Given the description of an element on the screen output the (x, y) to click on. 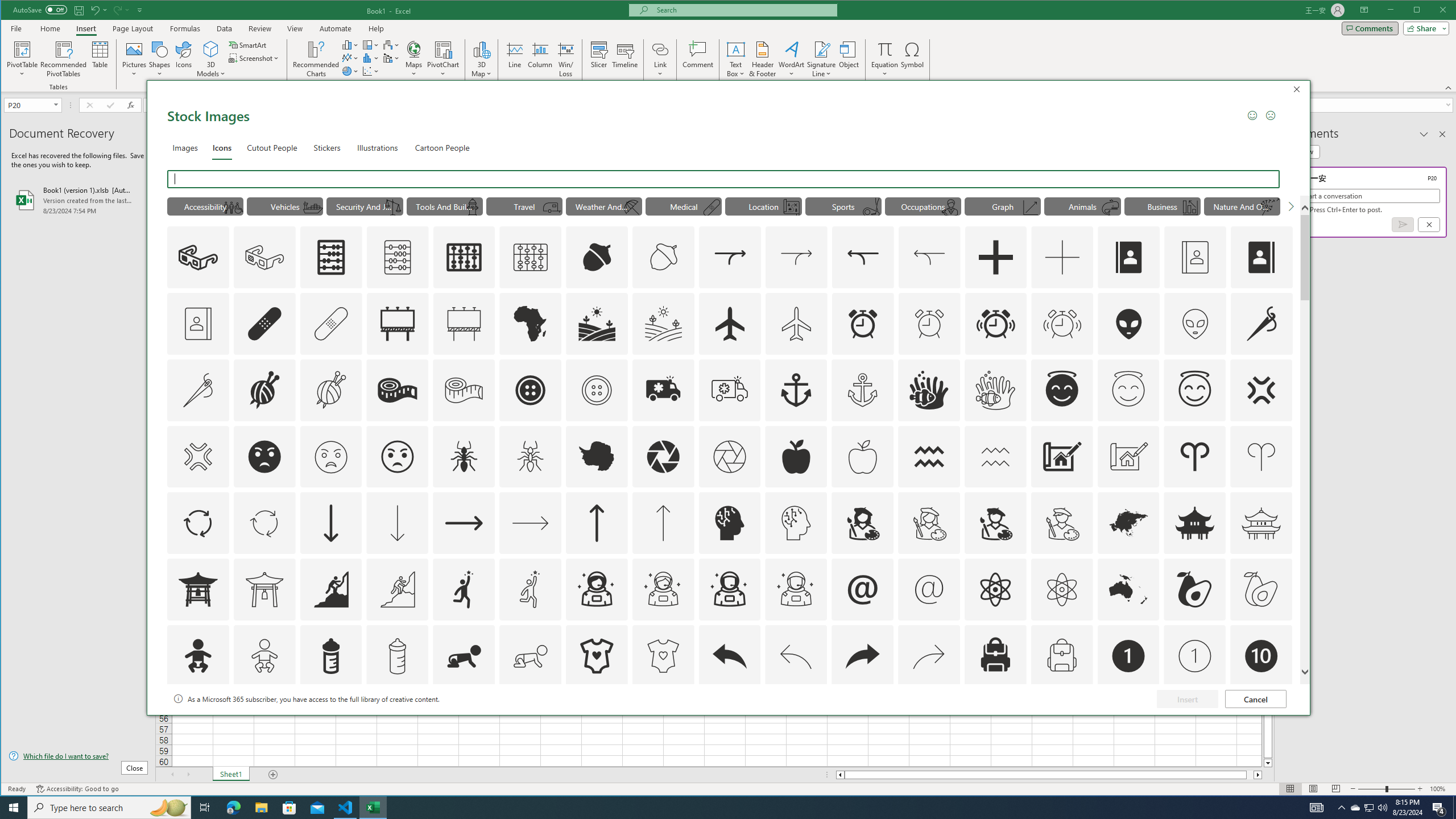
AutomationID: Icons_BabyBottle_M (397, 655)
AutomationID: Icons_Badge10 (1260, 655)
AutomationID: Icons_Avocado (1194, 589)
AutomationID: Icons_AngryFace_Outline (397, 456)
AutomationID: Icons_AnemoneAndClownfish_M (995, 389)
PivotTable (22, 59)
AutomationID: Icons_ArtistMale (995, 522)
AutomationID: Icons_Ambulance_M (729, 389)
AutomationID: Icons (1260, 721)
Recommended Charts (315, 59)
